Given the description of an element on the screen output the (x, y) to click on. 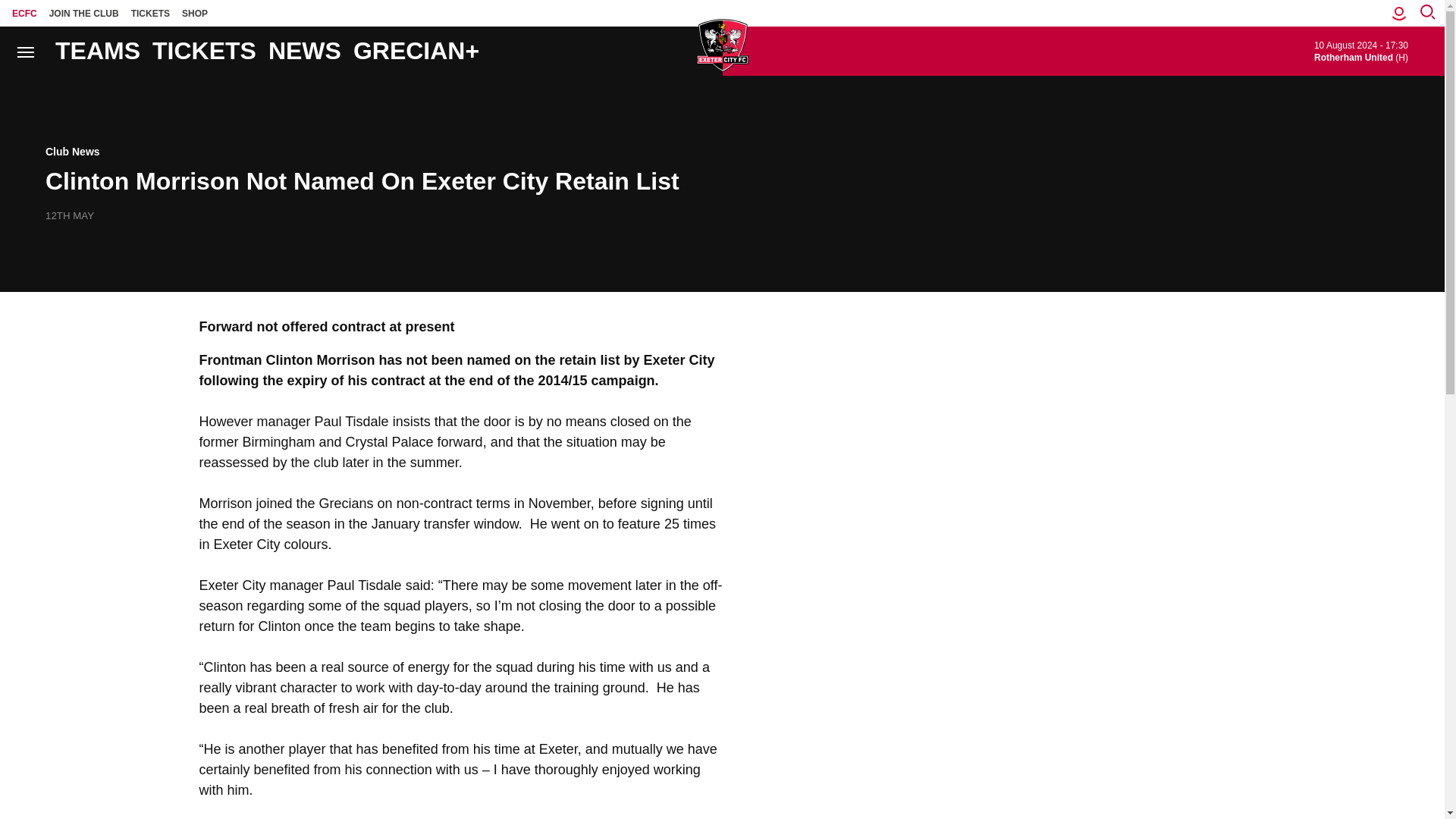
SHOP (195, 13)
JOIN THE CLUB (84, 13)
TICKETS (150, 13)
ECFC (24, 13)
